Given the description of an element on the screen output the (x, y) to click on. 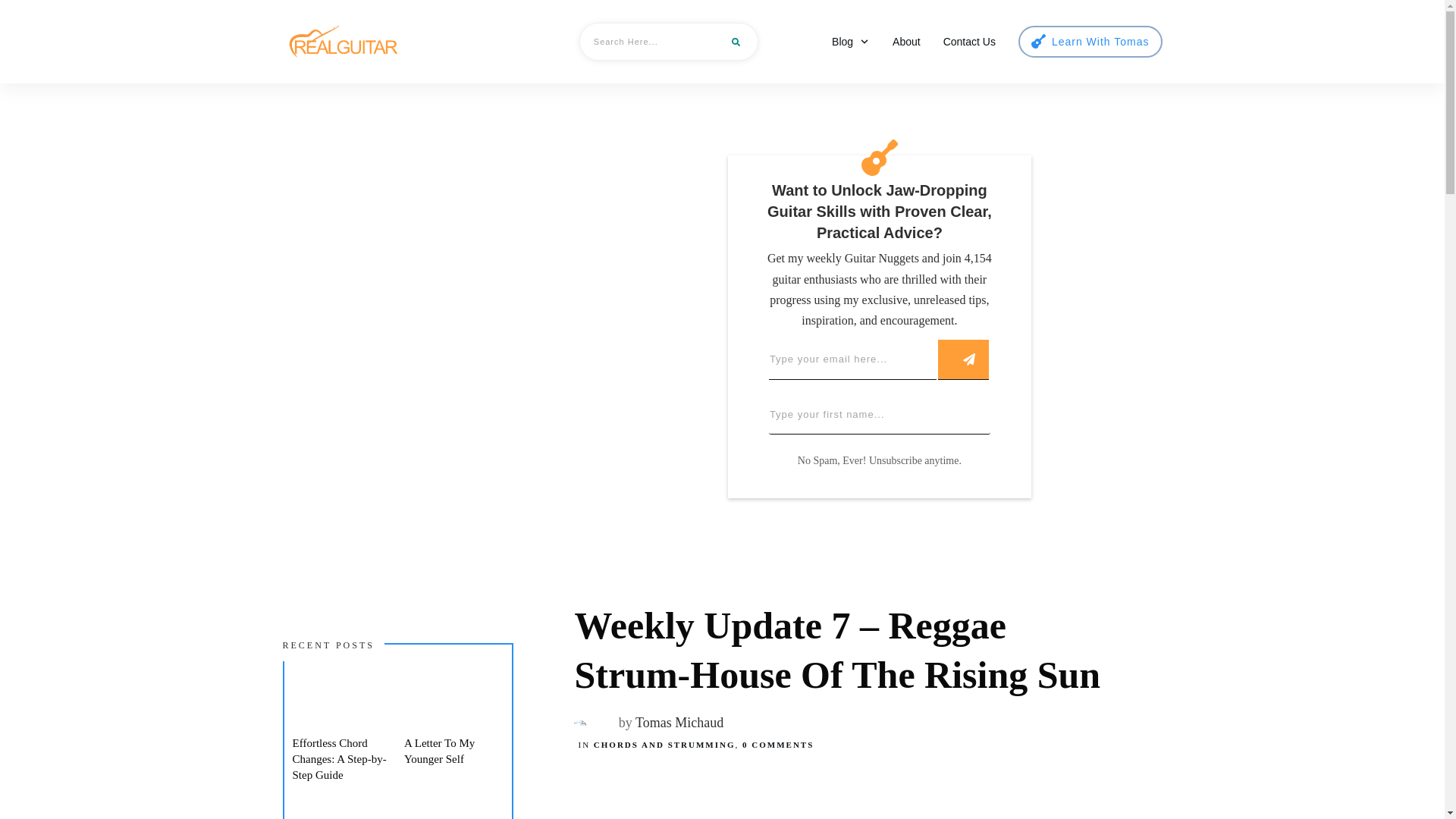
Learn With Tomas (1090, 41)
Chords And Strumming (664, 744)
Effortless Chord Changes: A Step-by-Step Guide (339, 759)
A Letter To My Younger Self (439, 750)
A Letter To My Younger Self (439, 750)
0 COMMENTS (777, 744)
About (906, 41)
Tomas Michaud (678, 722)
Blog (850, 41)
Effortless Chord Changes: A Step-by-Step Guide (339, 759)
